Given the description of an element on the screen output the (x, y) to click on. 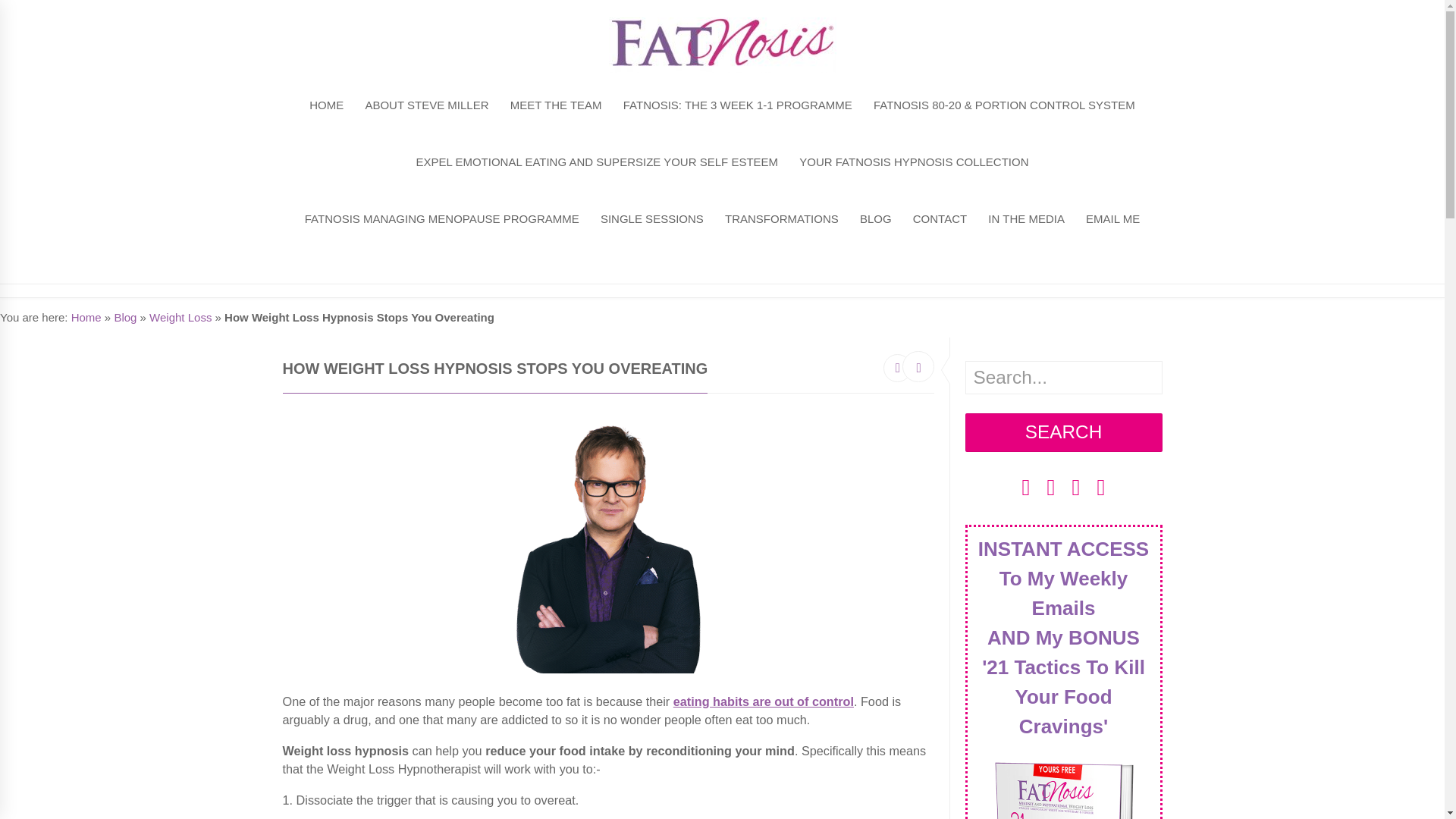
Your FATnosis Hypnosis Collection (914, 159)
FATNOSIS: THE 3 WEEK 1-1 PROGRAMME (738, 102)
MEET THE TEAM (555, 102)
Search (1062, 432)
Weight Loss (180, 317)
Blog (124, 317)
FATNOSIS MANAGING MENOPAUSE PROGRAMME (441, 216)
IN THE MEDIA (1026, 216)
TRANSFORMATIONS (782, 216)
CONTACT (938, 216)
Search (1062, 432)
SINGLE SESSIONS (651, 216)
EXPEL EMOTIONAL EATING AND SUPERSIZE YOUR SELF ESTEEM (596, 159)
ABOUT STEVE MILLER (426, 102)
YOUR FATNOSIS HYPNOSIS COLLECTION (914, 159)
